Given the description of an element on the screen output the (x, y) to click on. 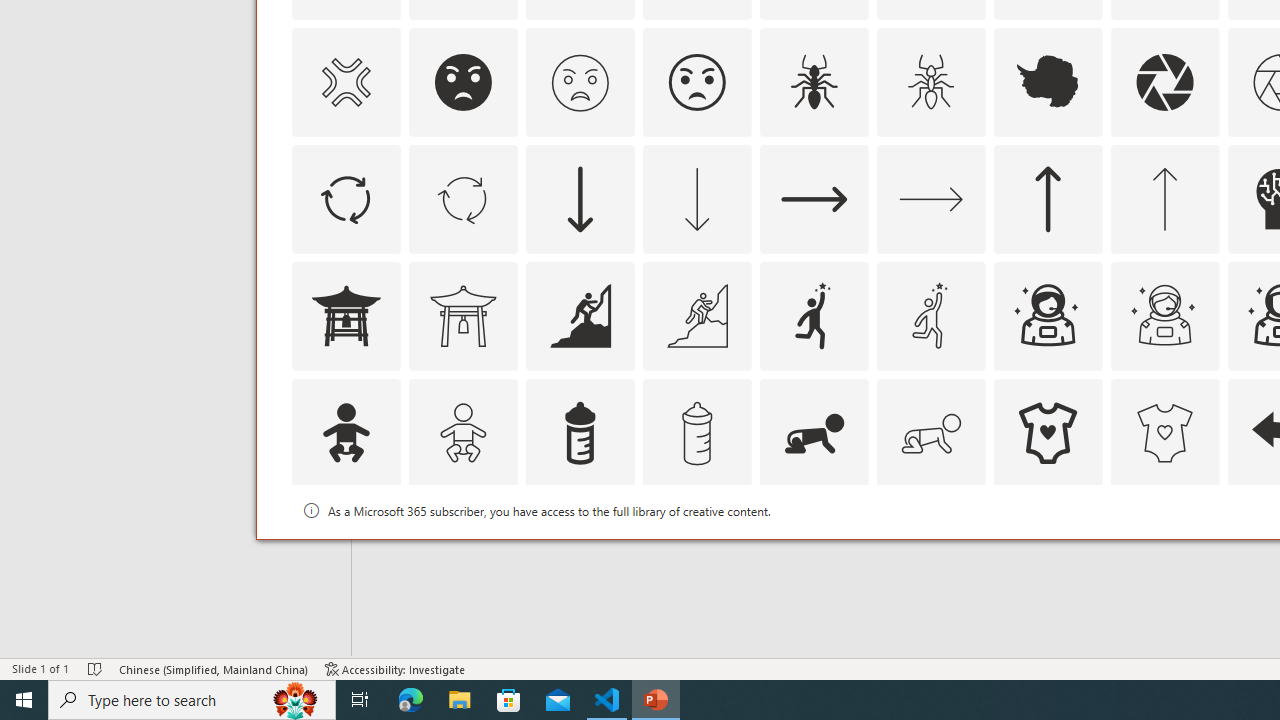
AutomationID: Icons (1048, 550)
AutomationID: Icons_Badge5 (1164, 550)
AutomationID: Icons_AstronautFemale_M (1164, 316)
AutomationID: Icons_Badge2 (463, 550)
AutomationID: Icons_Aspiration1 (813, 316)
AutomationID: Icons_ArrowCircle (345, 198)
AutomationID: Icons_ArrowCircle_M (463, 198)
AutomationID: Icons_Baby (345, 432)
AutomationID: Icons_ArrowDown (579, 198)
